Given the description of an element on the screen output the (x, y) to click on. 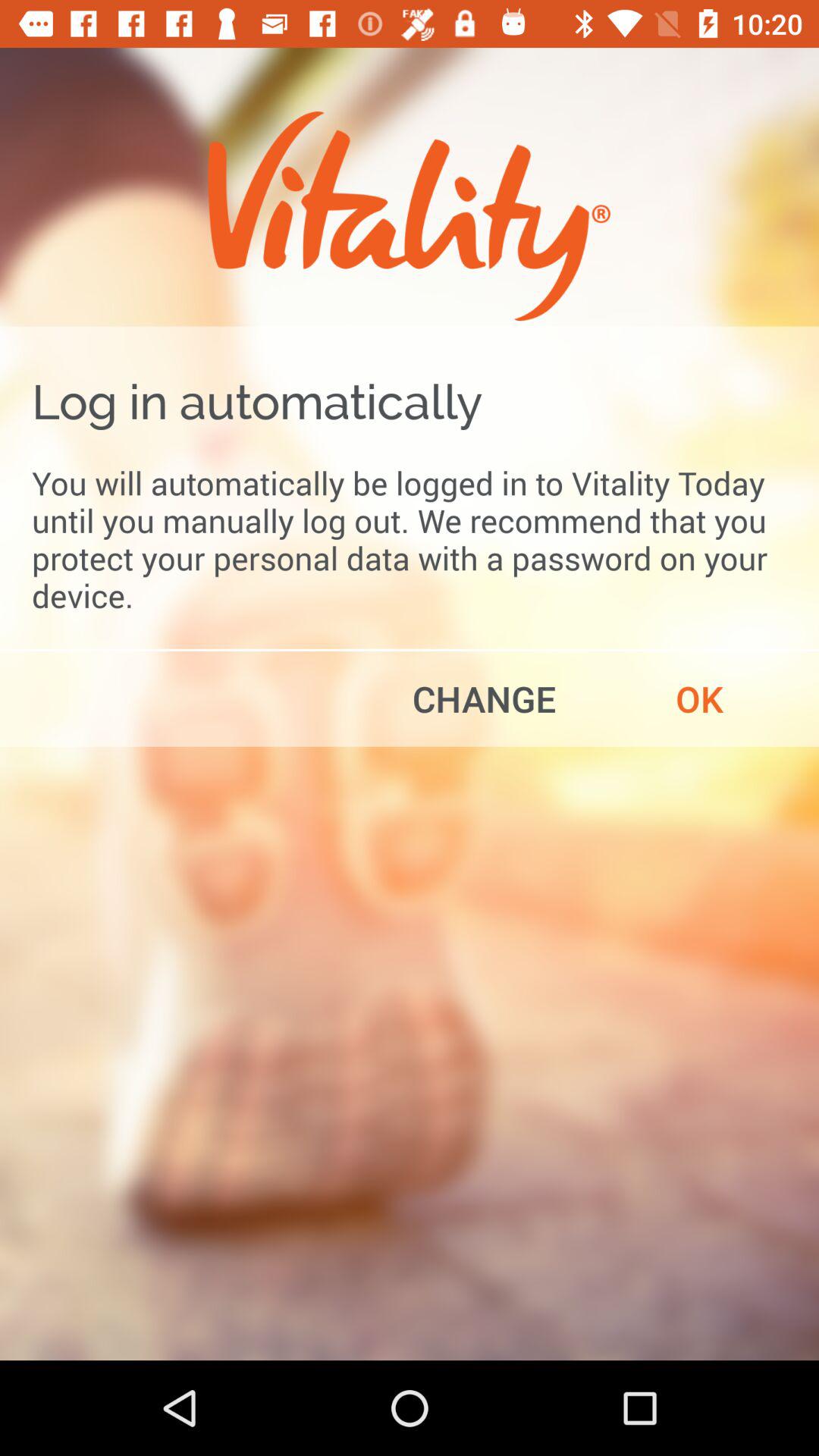
select icon next to change (699, 698)
